Given the description of an element on the screen output the (x, y) to click on. 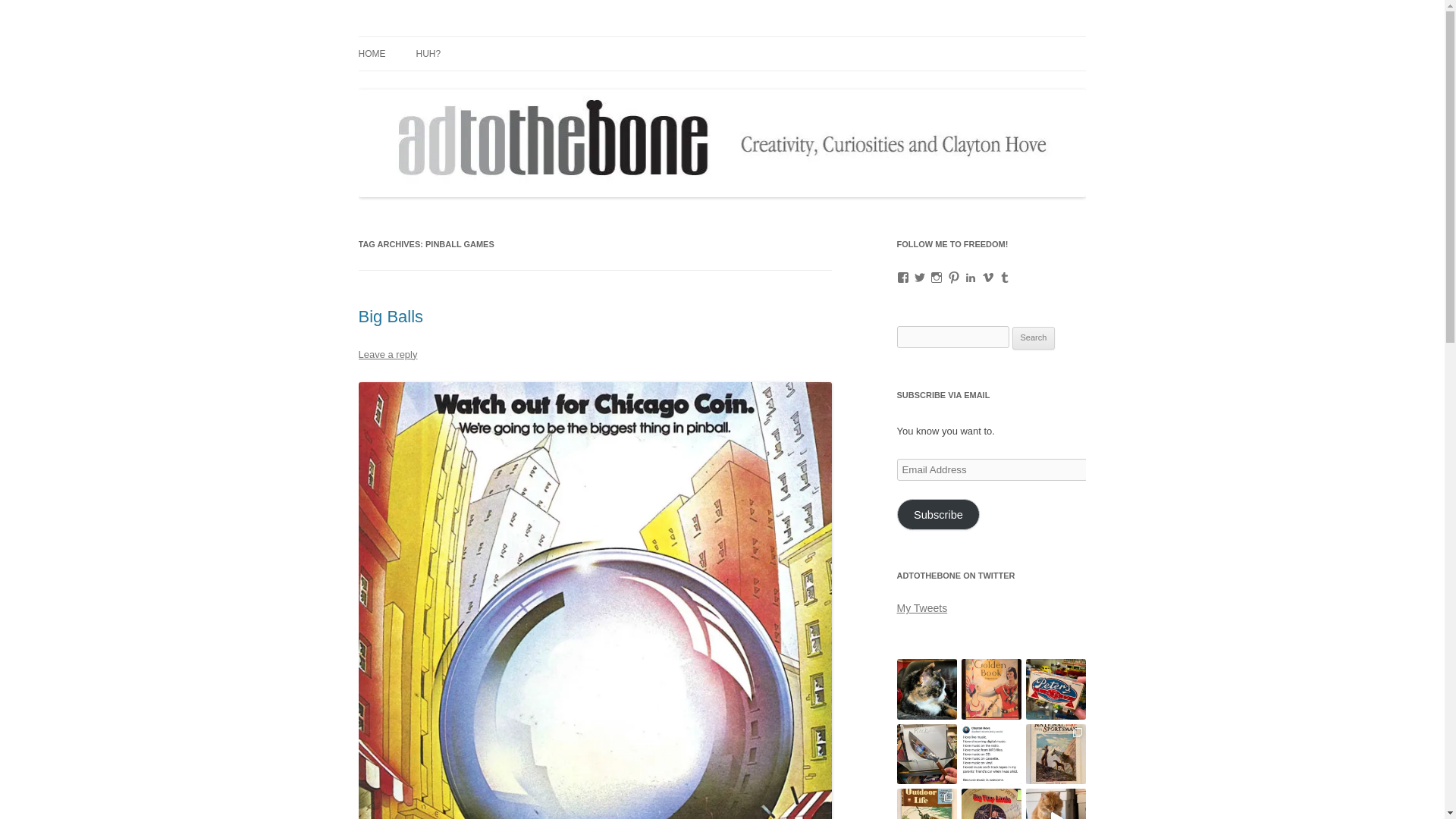
Clayton Hove's Ad to the Bone (501, 36)
Leave a reply (387, 354)
Big Balls (390, 316)
Search (1033, 337)
